Given the description of an element on the screen output the (x, y) to click on. 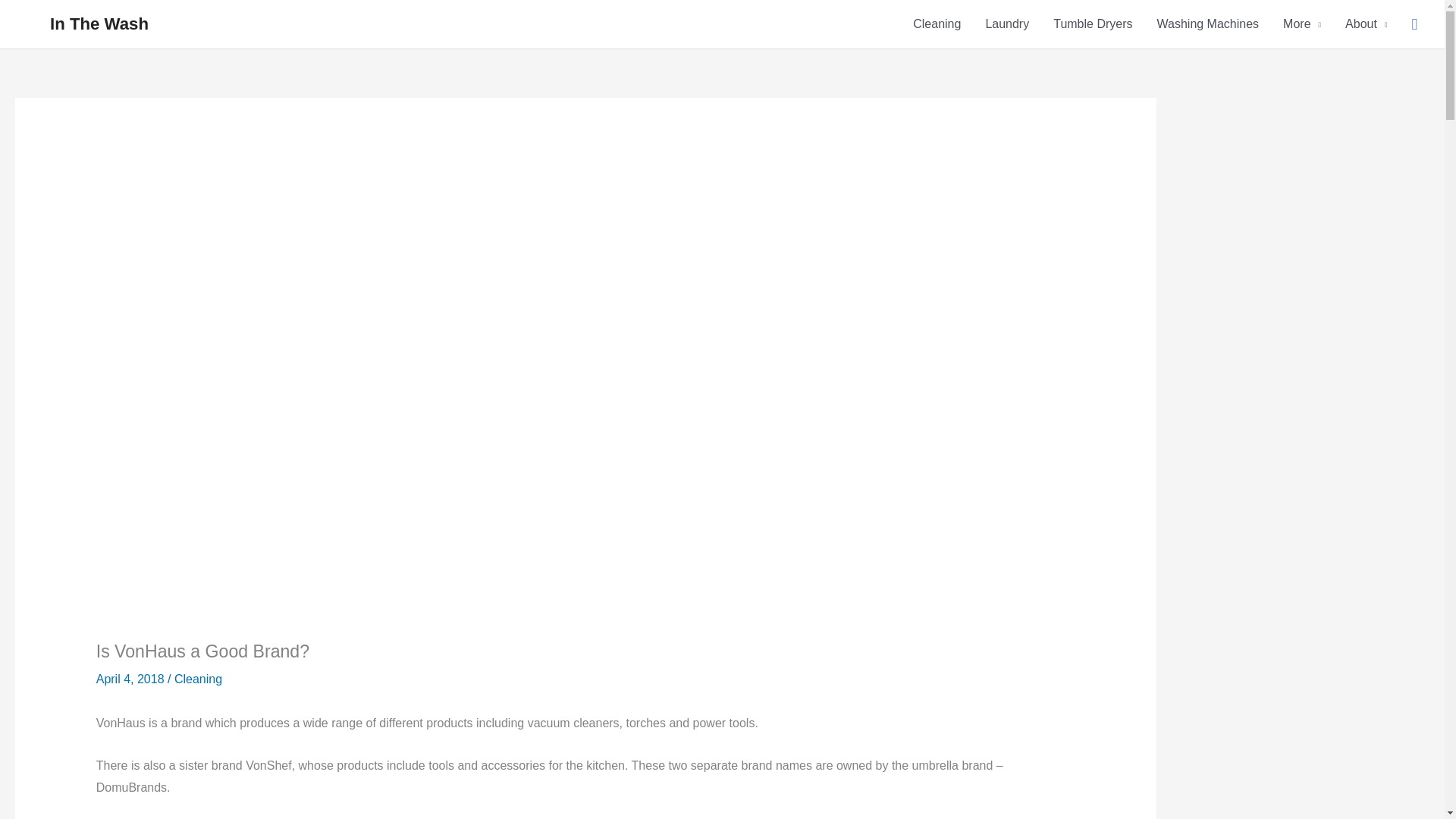
More (1302, 24)
In The Wash (98, 23)
Search (1413, 24)
Washing Machines (1207, 24)
Tumble Dryers (1092, 24)
Cleaning (936, 24)
Laundry (1006, 24)
Cleaning (198, 678)
About (1366, 24)
